Given the description of an element on the screen output the (x, y) to click on. 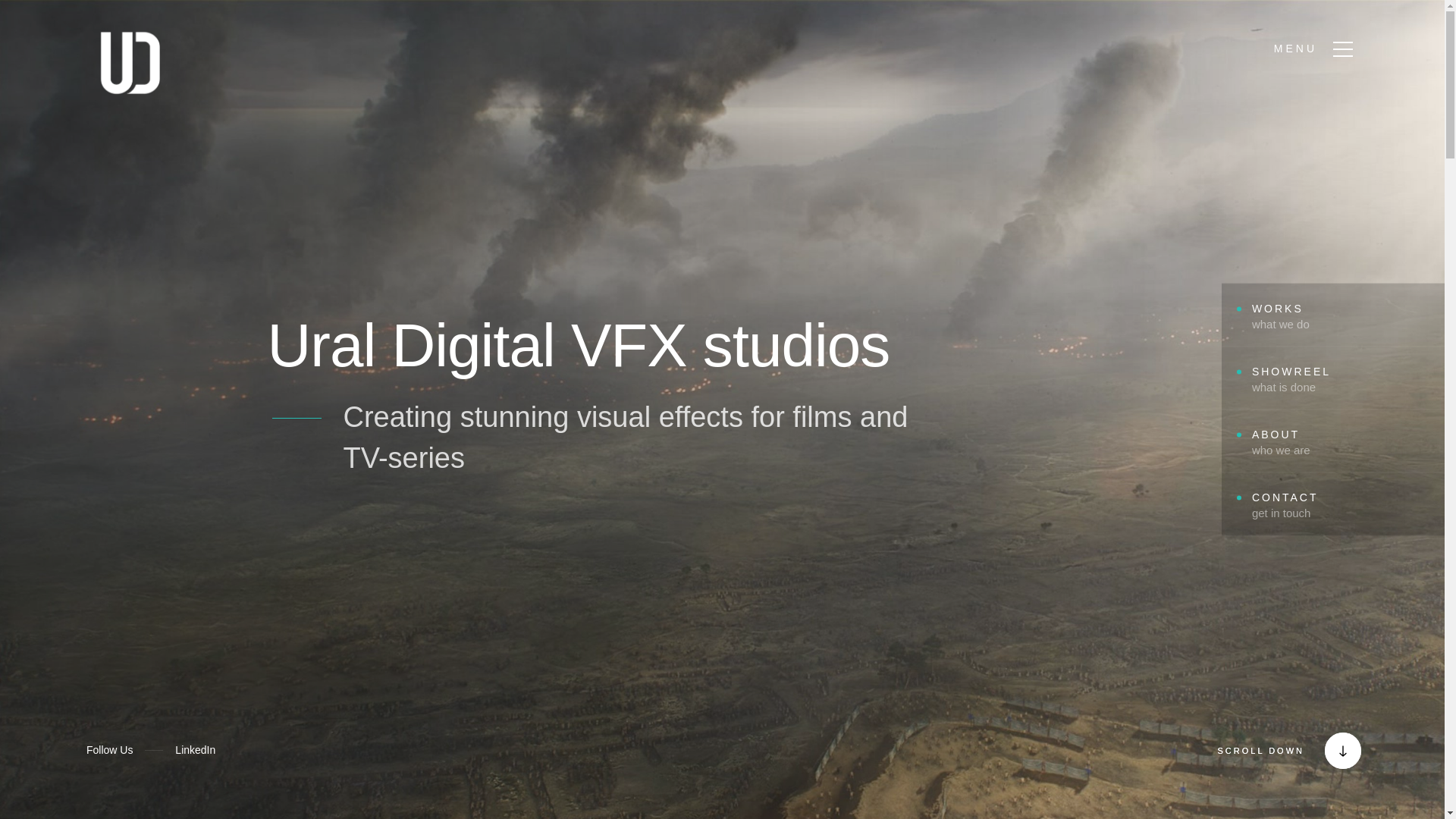
SCROLL DOWN (1317, 750)
SCROLL DOWN (1317, 750)
SCROLL DOWN (1260, 750)
SCROLL DOWN (1260, 750)
LinkedIn (194, 750)
SCROLL DOWN (1317, 750)
